Given the description of an element on the screen output the (x, y) to click on. 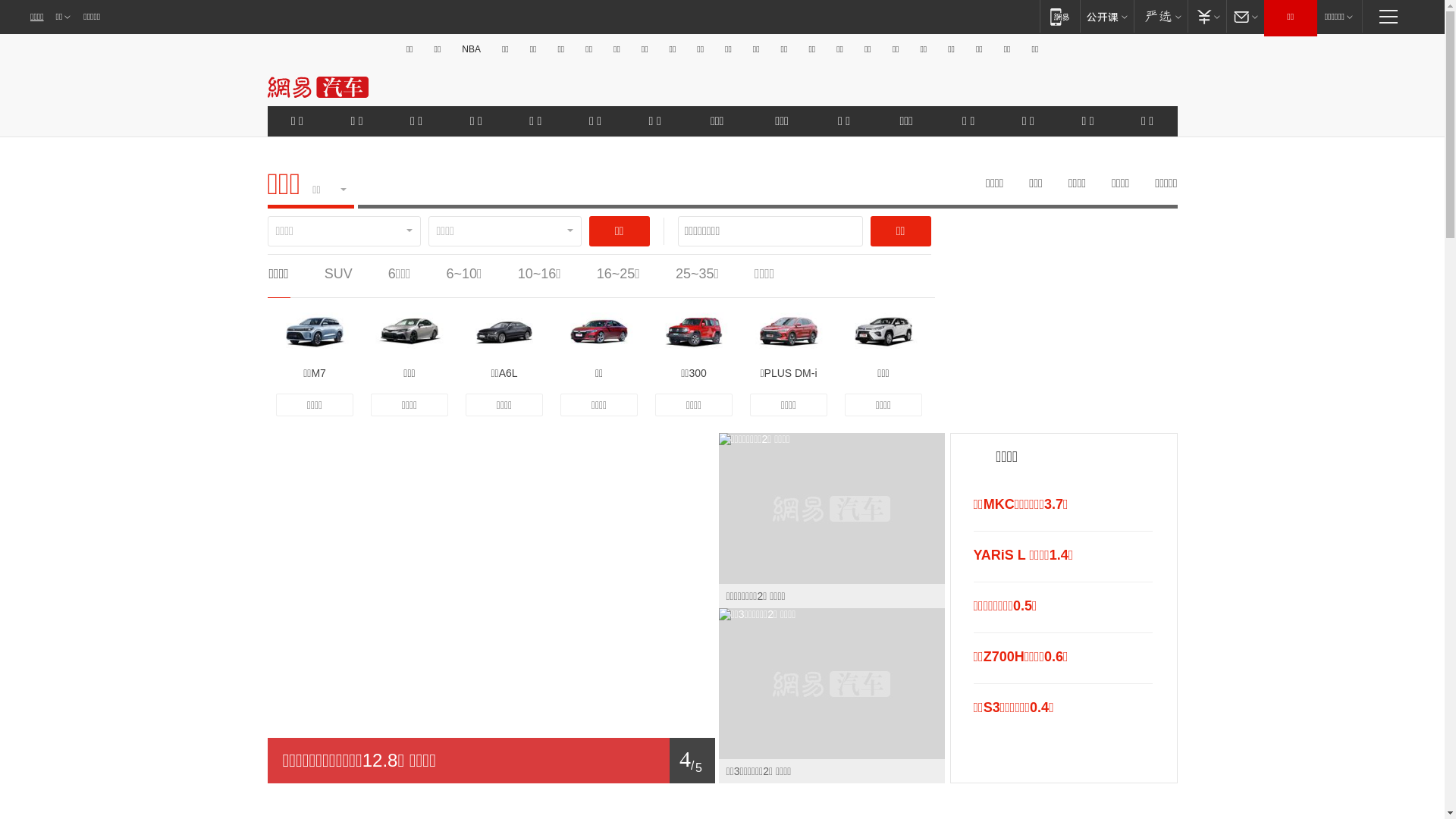
SUV Element type: text (338, 273)
NBA Element type: text (471, 48)
1/ 5 Element type: text (490, 760)
